Given the description of an element on the screen output the (x, y) to click on. 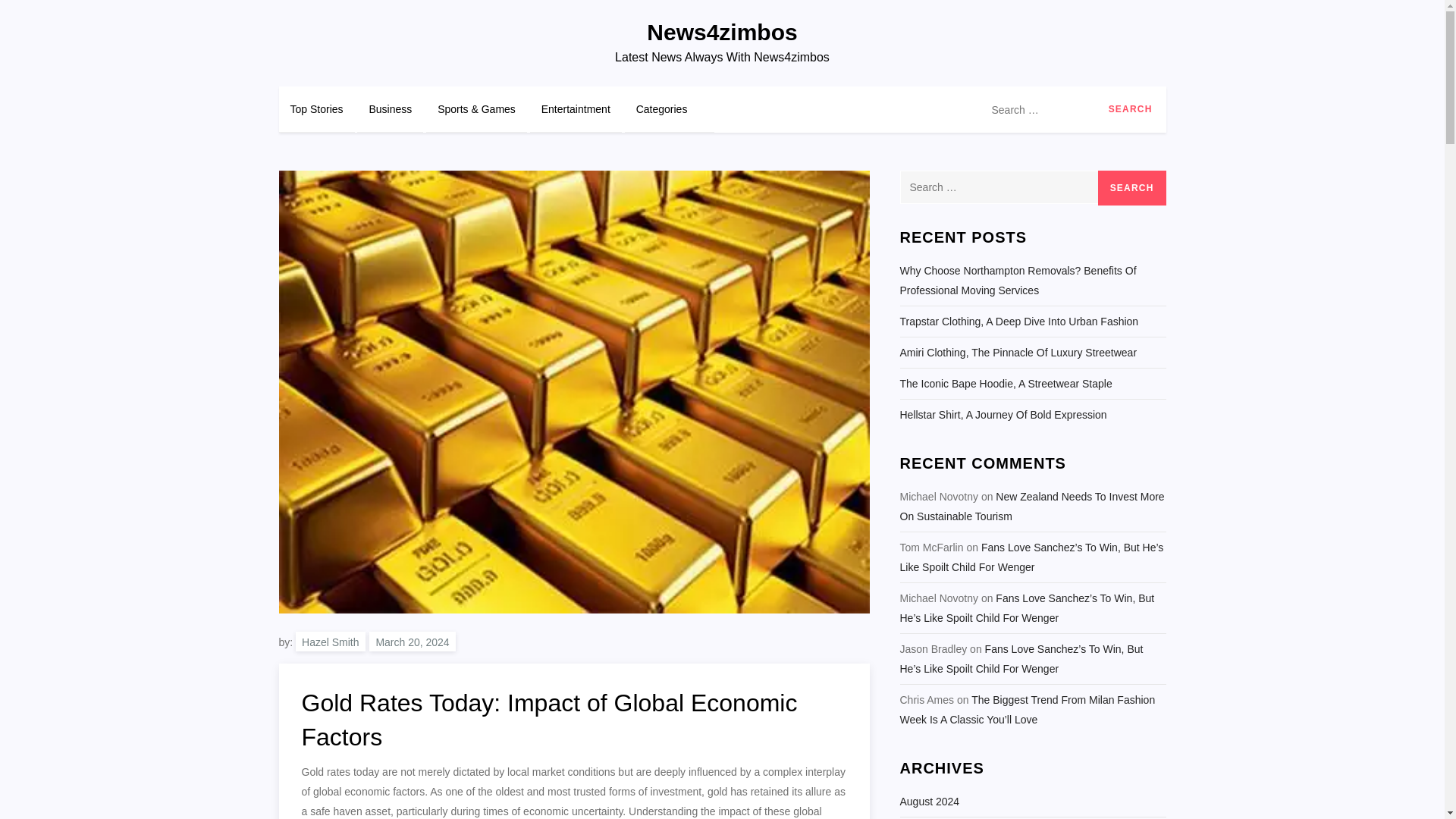
March 20, 2024 (411, 641)
Hellstar Shirt, A Journey Of Bold Expression (1002, 414)
Hazel Smith (330, 641)
Entertaintment (575, 108)
August 2024 (929, 801)
Search (1131, 187)
Search (1130, 109)
Categories (669, 108)
Search (1131, 187)
Search (1130, 109)
